Given the description of an element on the screen output the (x, y) to click on. 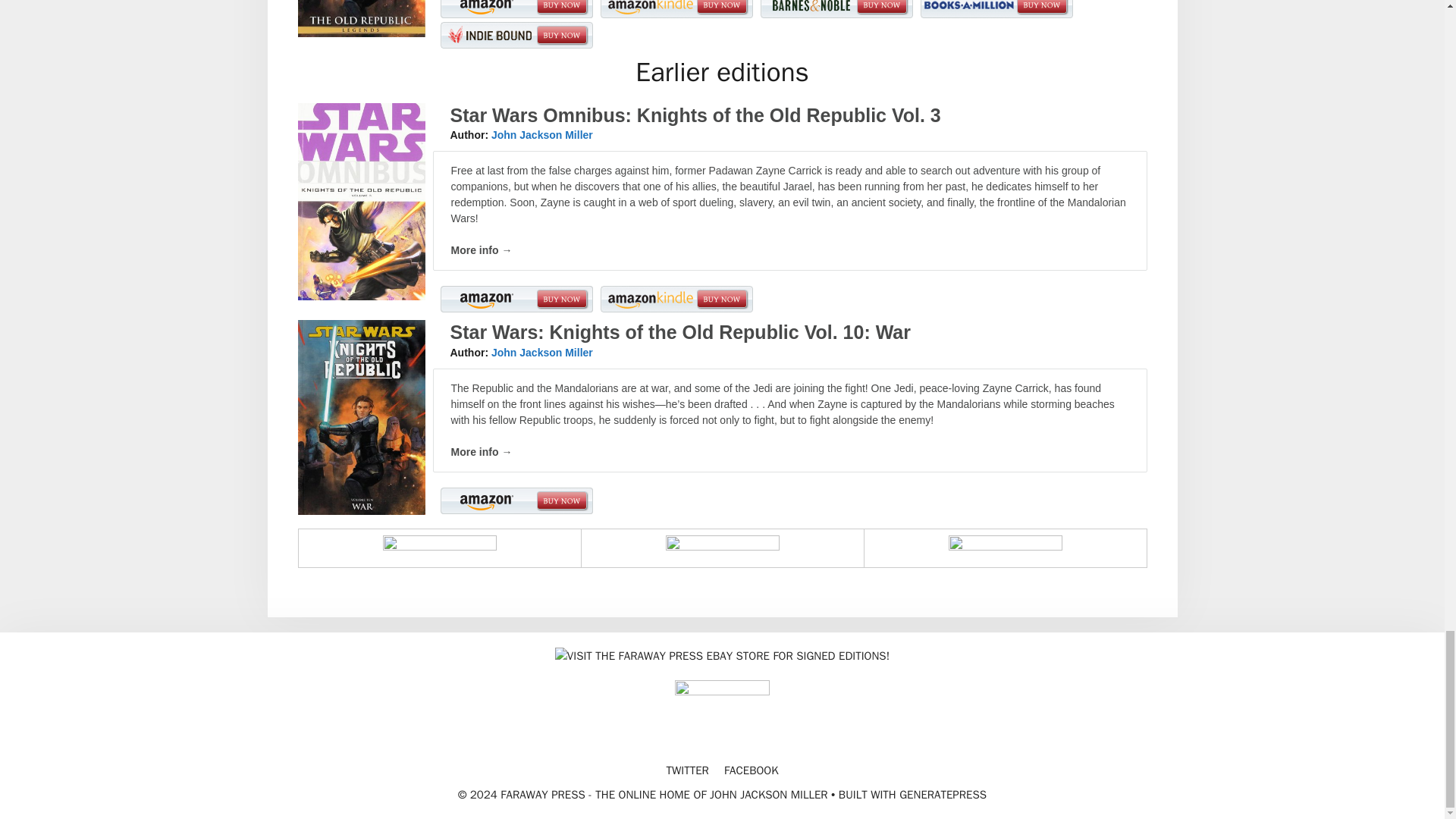
eBayStoreAd (721, 655)
John Jackson Miller (542, 352)
Star Wars Omnibus: Knights of the Old Republic Vol. 3 (694, 115)
John Jackson Miller (542, 134)
Star Wars: Knights of the Old Republic Vol. 10: War (680, 332)
GENERATEPRESS (943, 794)
FACEBOOK (750, 770)
TWITTER (686, 770)
